Given the description of an element on the screen output the (x, y) to click on. 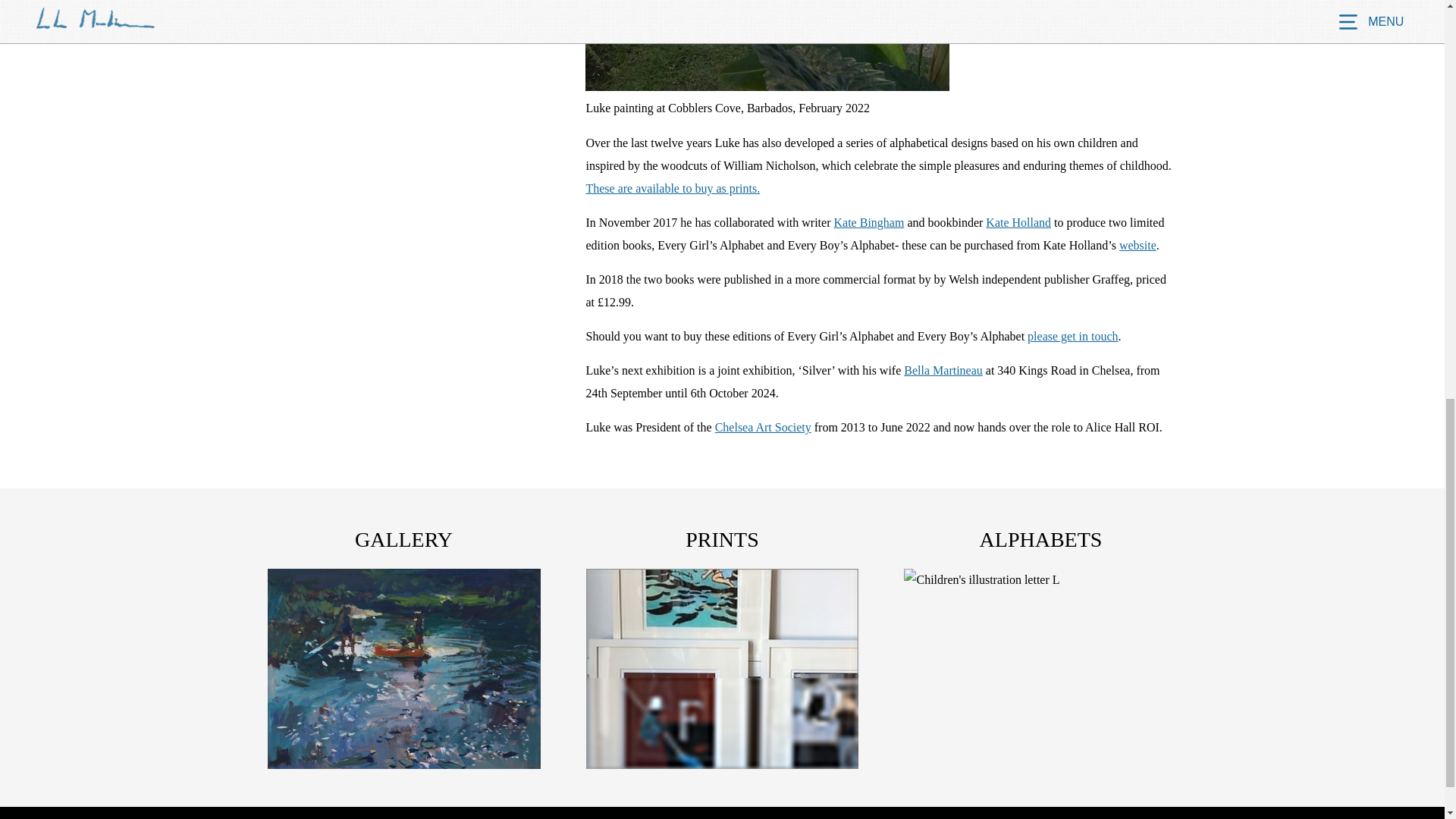
These are available to buy as prints. (672, 187)
GALLERY (403, 539)
please get in touch (1072, 336)
ALPHABETS (1040, 539)
website (1137, 245)
Kate Holland (1018, 222)
Bella Martineau (943, 369)
Chelsea Art Society (762, 427)
Kate Bingham (869, 222)
PRINTS (722, 539)
